Given the description of an element on the screen output the (x, y) to click on. 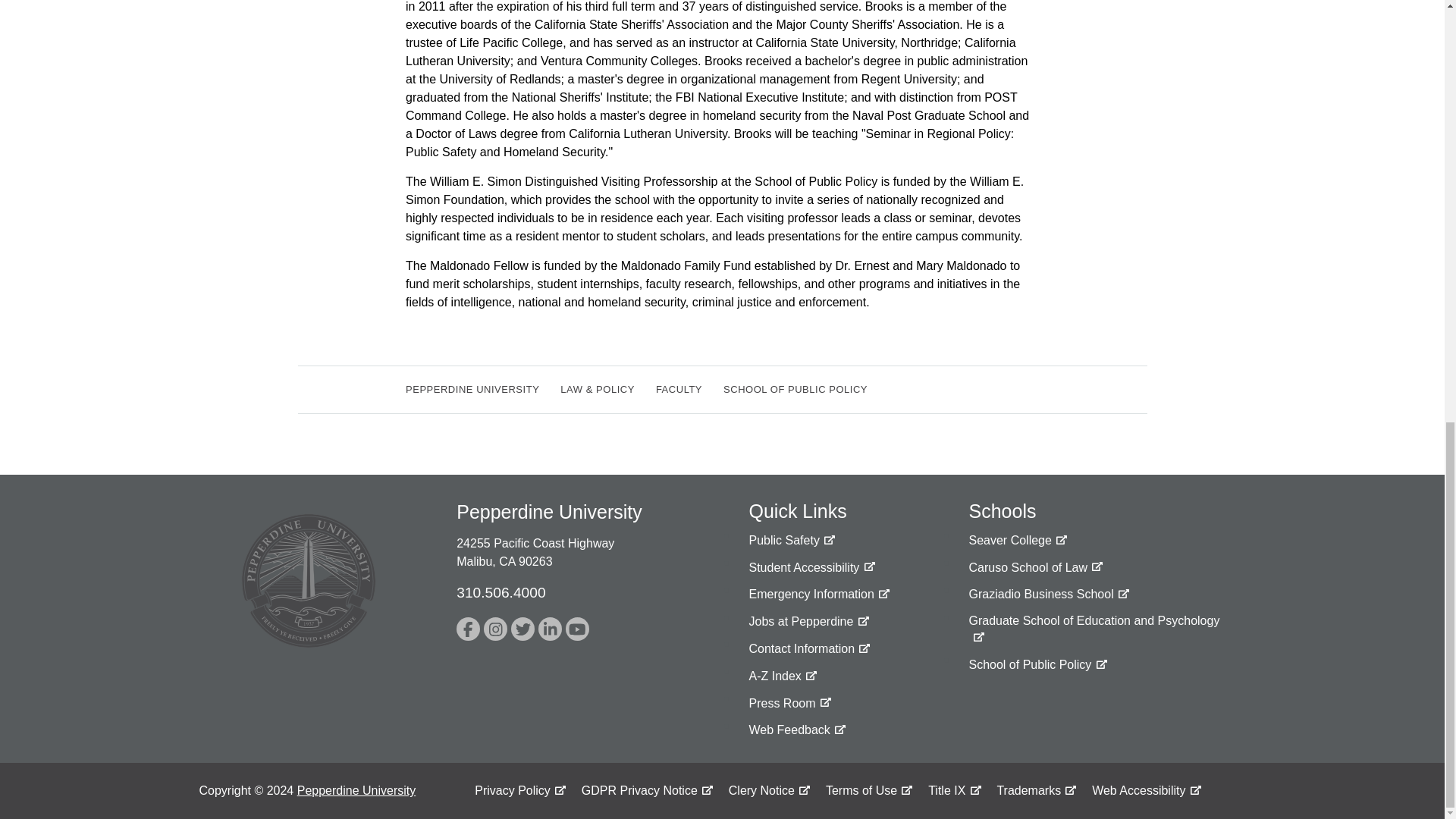
Call (500, 592)
Link to External Site (550, 628)
Link to External Site (522, 628)
Link to External Site (818, 594)
Link to External Site (1048, 594)
Link to External Site (1035, 567)
Link to External Site (1095, 629)
Link to External Site (1017, 540)
Link to External Site (468, 628)
Link to External Site (494, 628)
